Given the description of an element on the screen output the (x, y) to click on. 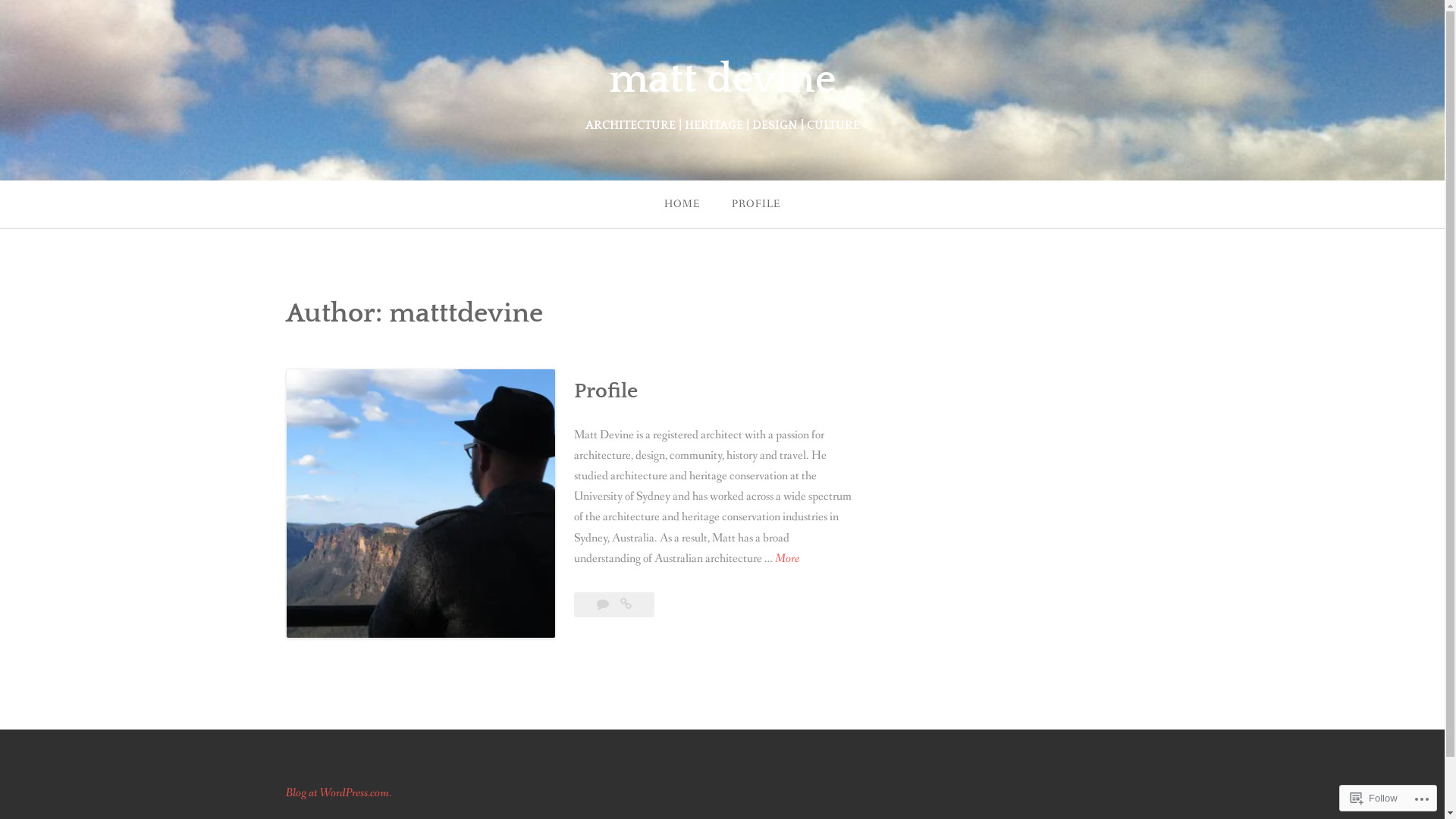
Blog at WordPress.com. Element type: text (337, 792)
matt devine Element type: text (721, 79)
Profile Element type: text (605, 390)
PROFILE Element type: text (755, 204)
More Element type: text (787, 558)
Follow Element type: text (1373, 797)
HOME Element type: text (681, 204)
